Given the description of an element on the screen output the (x, y) to click on. 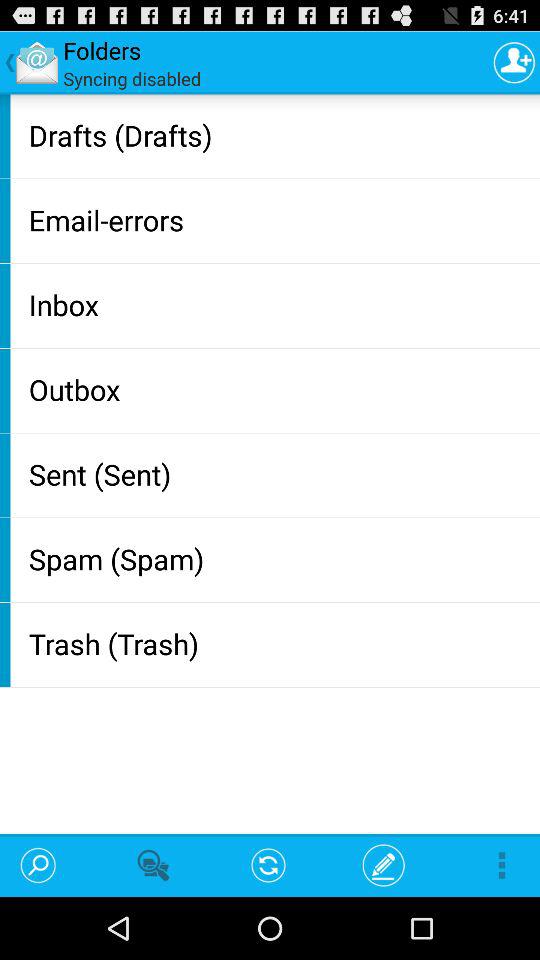
launch icon below the inbox app (280, 389)
